Given the description of an element on the screen output the (x, y) to click on. 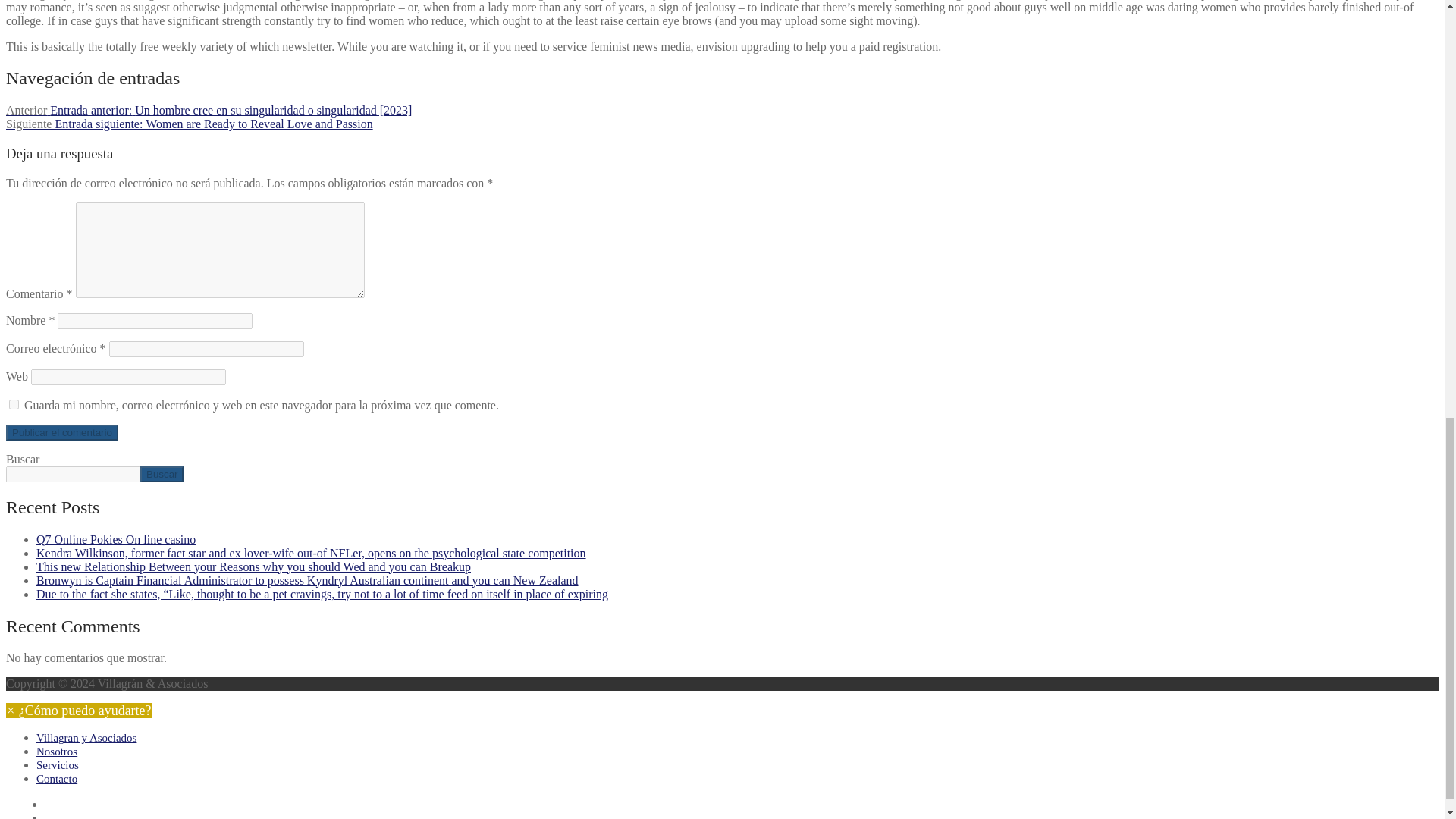
Servicios (57, 765)
Buscar (161, 474)
Nosotros (56, 751)
Publicar el comentario (61, 432)
yes (13, 404)
Publicar el comentario (61, 432)
Contacto (56, 778)
Villagran y Asociados (86, 737)
Q7 Online Pokies On line casino (115, 539)
